Given the description of an element on the screen output the (x, y) to click on. 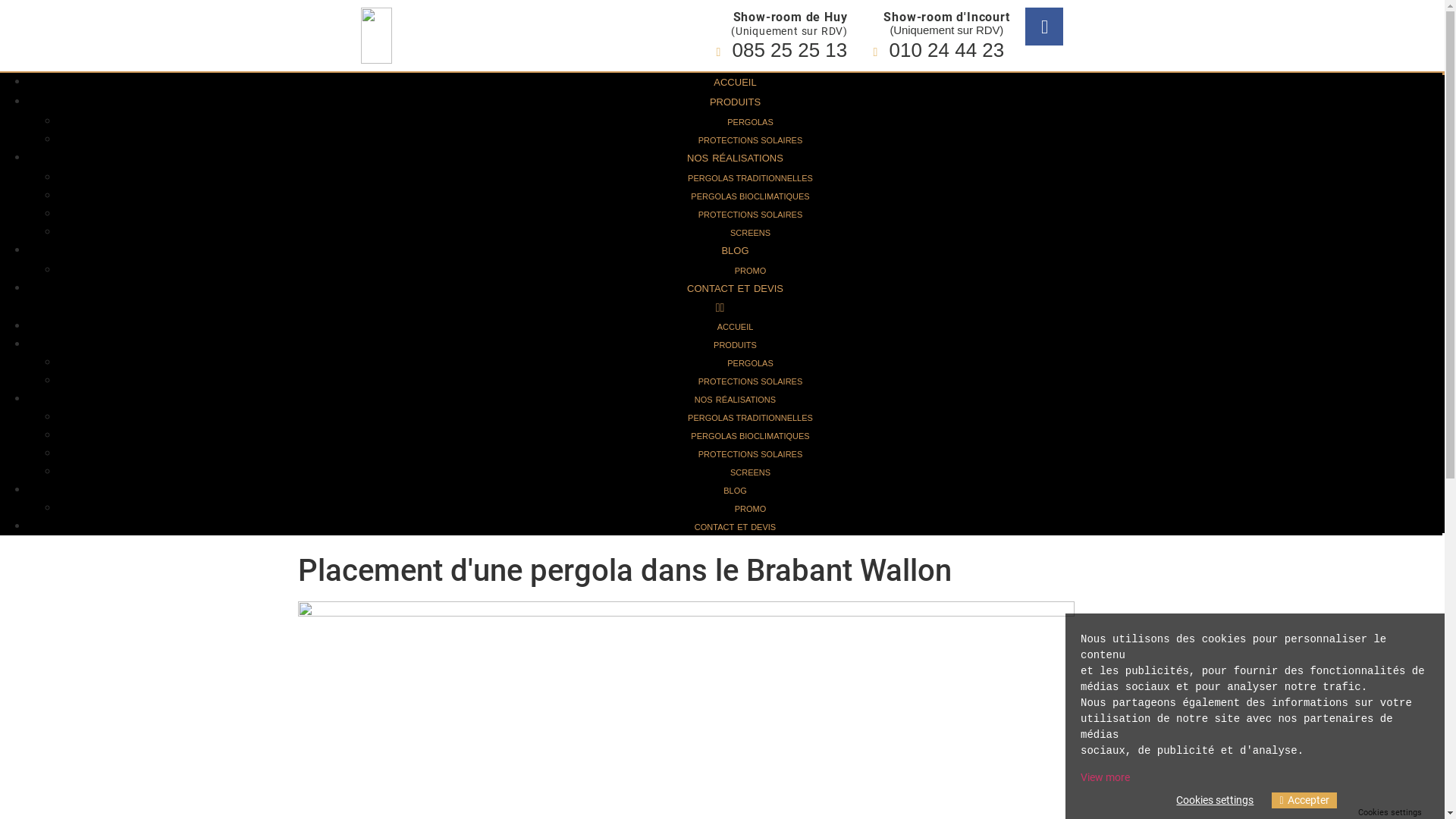
PROTECTIONS SOLAIRES Element type: text (750, 214)
PROTECTIONS SOLAIRES Element type: text (750, 139)
CONTACT ET DEVIS Element type: text (734, 288)
CONTACT ET DEVIS Element type: text (734, 526)
BLOG Element type: text (734, 250)
SCREENS Element type: text (750, 472)
PROTECTIONS SOLAIRES Element type: text (750, 381)
PERGOLAS BIOCLIMATIQUES Element type: text (749, 196)
ACCUEIL Element type: text (734, 82)
PERGOLAS BIOCLIMATIQUES Element type: text (749, 435)
PERGOLAS TRADITIONNELLES Element type: text (749, 177)
View more Element type: text (1104, 777)
PROTECTIONS SOLAIRES Element type: text (750, 453)
PROMO Element type: text (750, 270)
ACCUEIL Element type: text (735, 326)
PROMO Element type: text (750, 508)
PRODUITS Element type: text (734, 344)
PRODUITS Element type: text (734, 101)
PERGOLAS Element type: text (750, 362)
BLOG Element type: text (734, 490)
PERGOLAS Element type: text (750, 121)
PERGOLAS TRADITIONNELLES Element type: text (749, 417)
SCREENS Element type: text (750, 232)
